Given the description of an element on the screen output the (x, y) to click on. 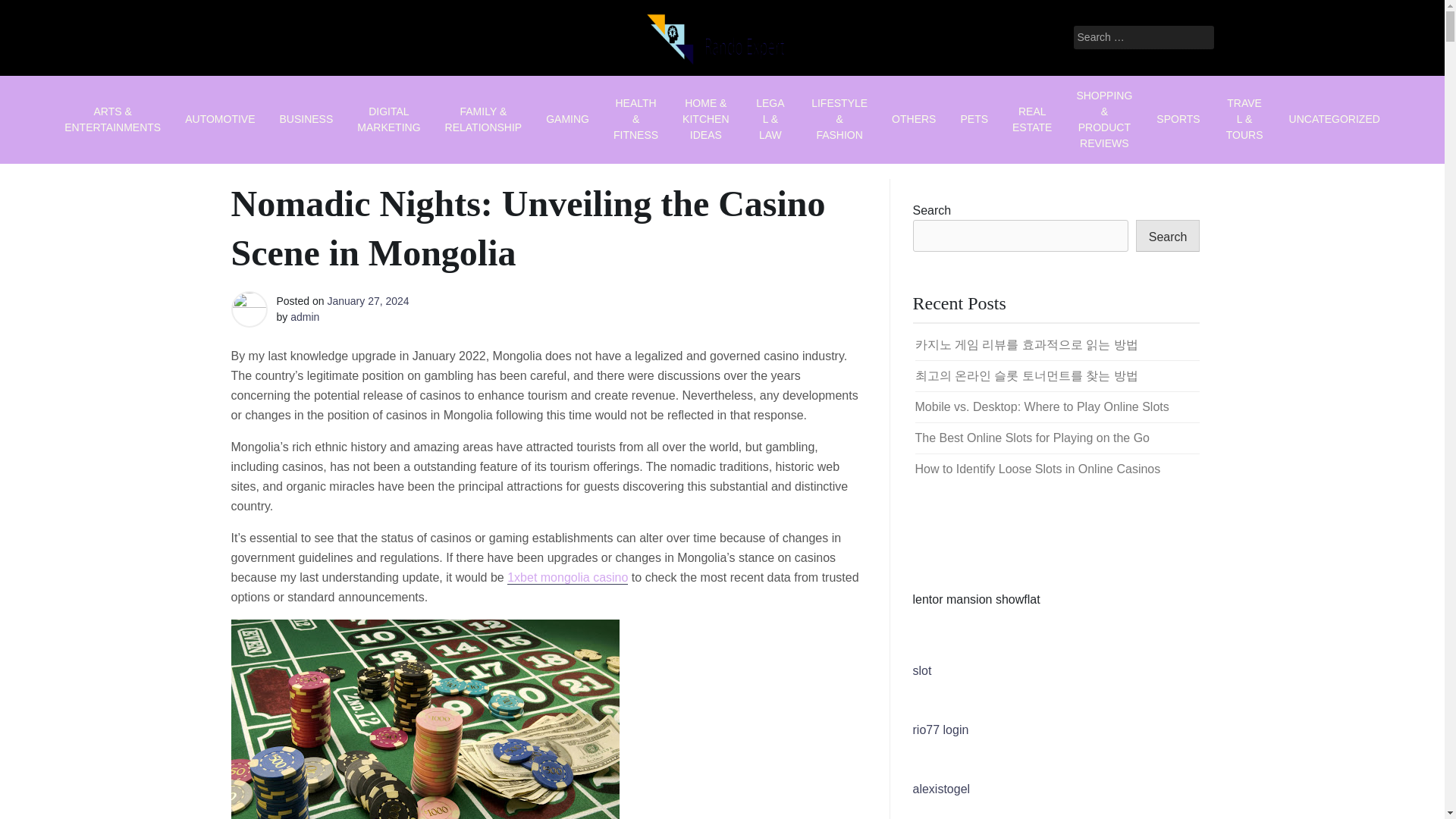
The Best Online Slots for Playing on the Go (1032, 437)
Search (1167, 235)
admin (303, 316)
alexistogel (941, 788)
OTHERS (913, 119)
BUSINESS (305, 119)
Best Recipes Ever (675, 90)
AUTOMOTIVE (219, 119)
How to Identify Loose Slots in Online Casinos (1037, 468)
Search (32, 12)
